Given the description of an element on the screen output the (x, y) to click on. 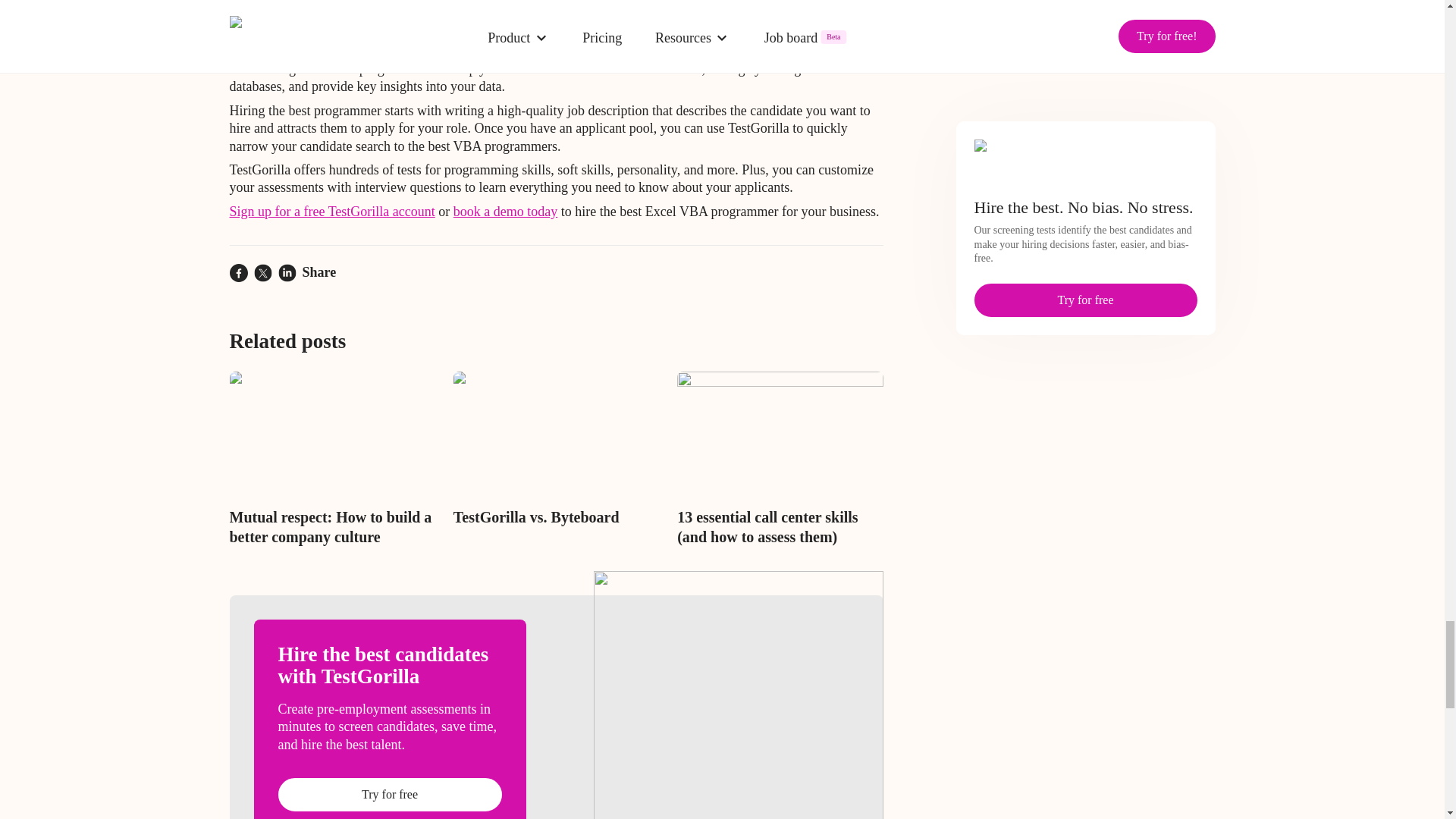
Sign up for a free TestGorilla account (330, 211)
